Given the description of an element on the screen output the (x, y) to click on. 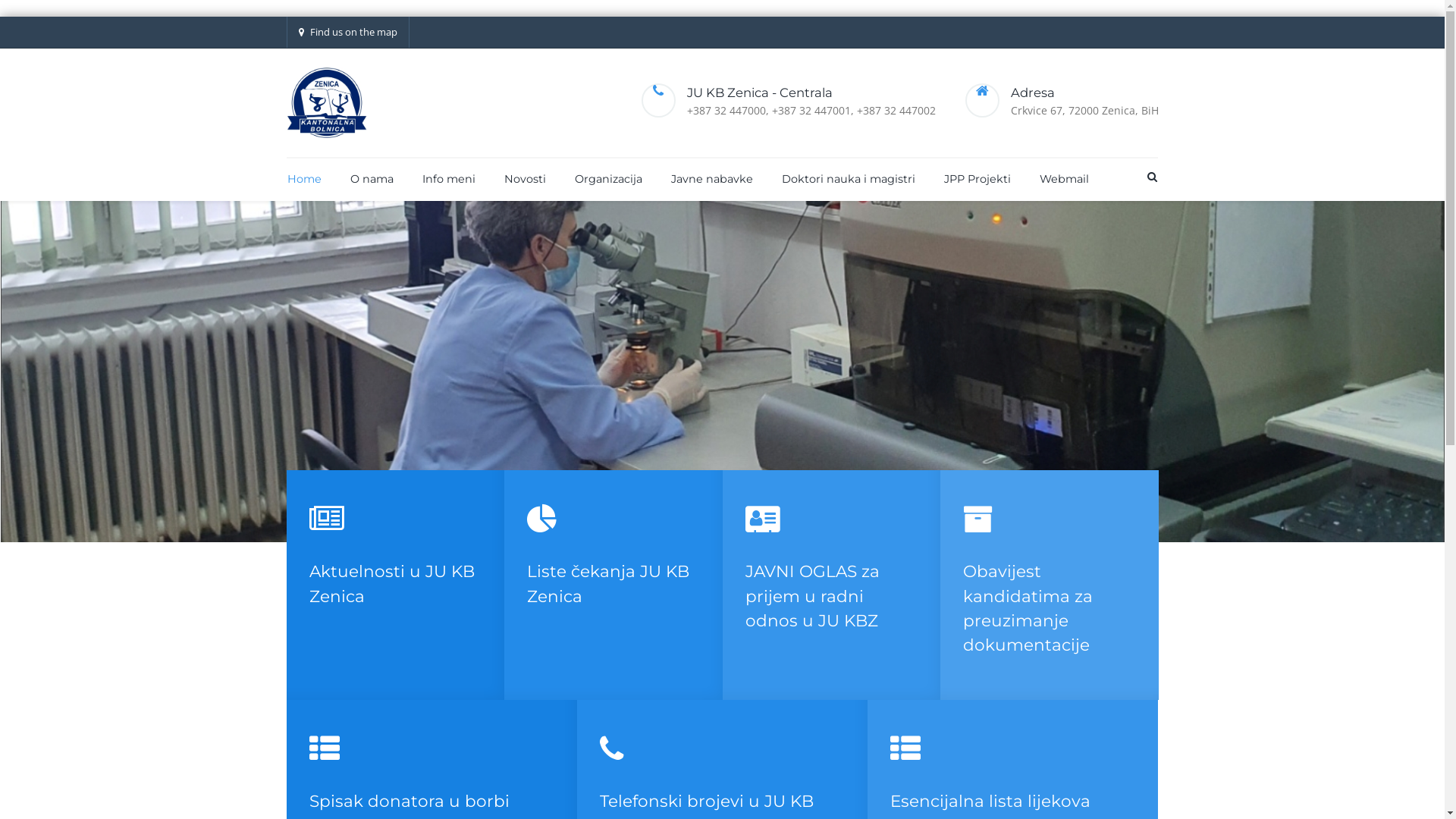
Find us on the map Element type: text (347, 31)
Medical Element type: hover (326, 102)
Aktuelnosti u JU KB Zenica Element type: text (391, 583)
Organizacija Element type: text (607, 178)
Novosti Element type: text (524, 178)
Javne nabavke Element type: text (711, 178)
Doktori nauka i magistri Element type: text (848, 178)
Search Element type: hover (1150, 176)
JAVNI OGLAS za prijem u radni odnos u JU KBZ Element type: text (811, 595)
Info meni Element type: text (448, 178)
Webmail Element type: text (1057, 178)
JPP Projekti Element type: text (977, 178)
Obavijest kandidatima za preuzimanje dokumentacije Element type: text (1027, 607)
Home Element type: text (304, 178)
Esencijalna lista lijekova Element type: text (990, 800)
O nama Element type: text (370, 178)
